Given the description of an element on the screen output the (x, y) to click on. 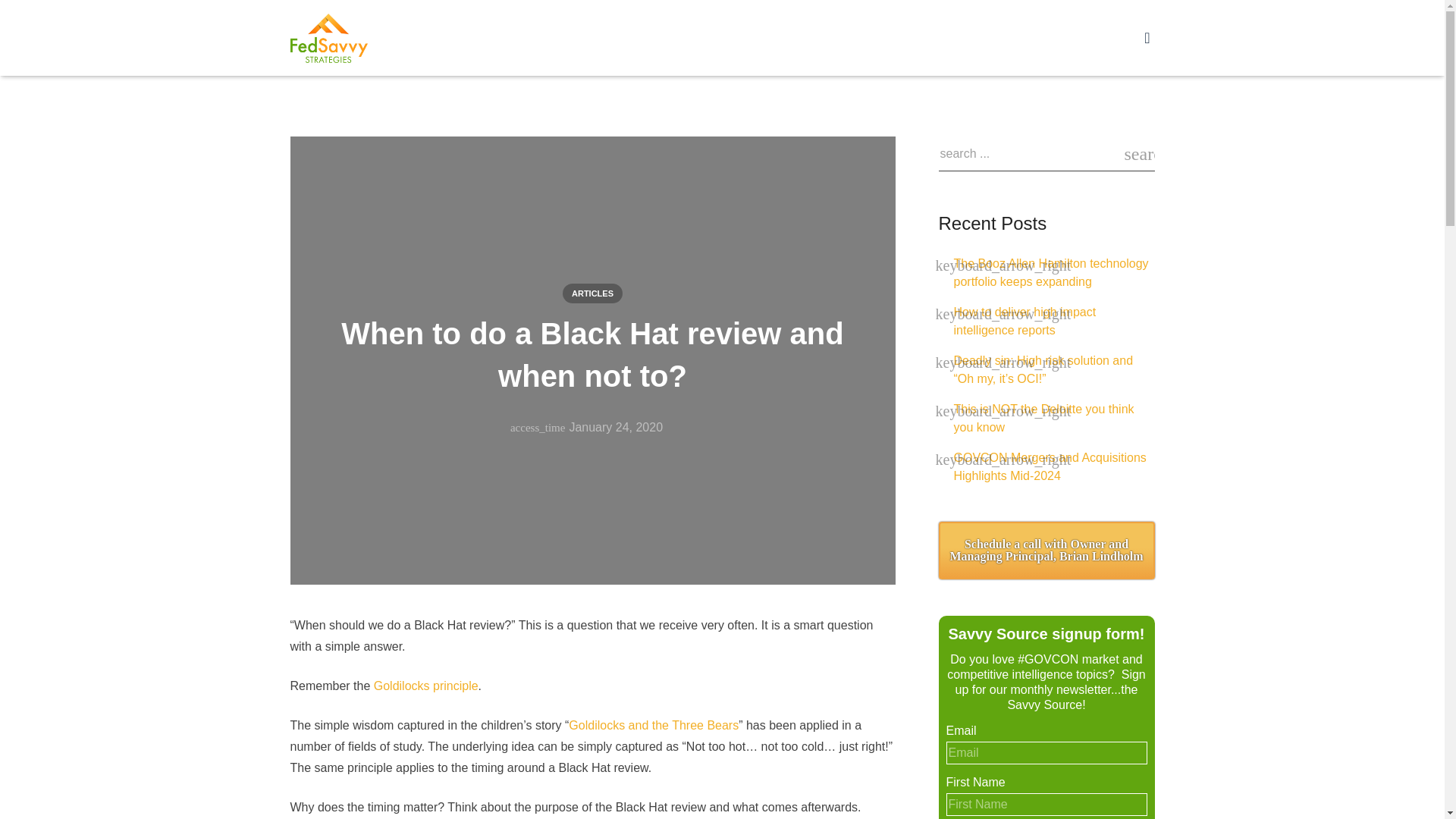
Goldilocks and the Three Bears (653, 725)
ARTICLES (592, 293)
Goldilocks principle (426, 685)
